Given the description of an element on the screen output the (x, y) to click on. 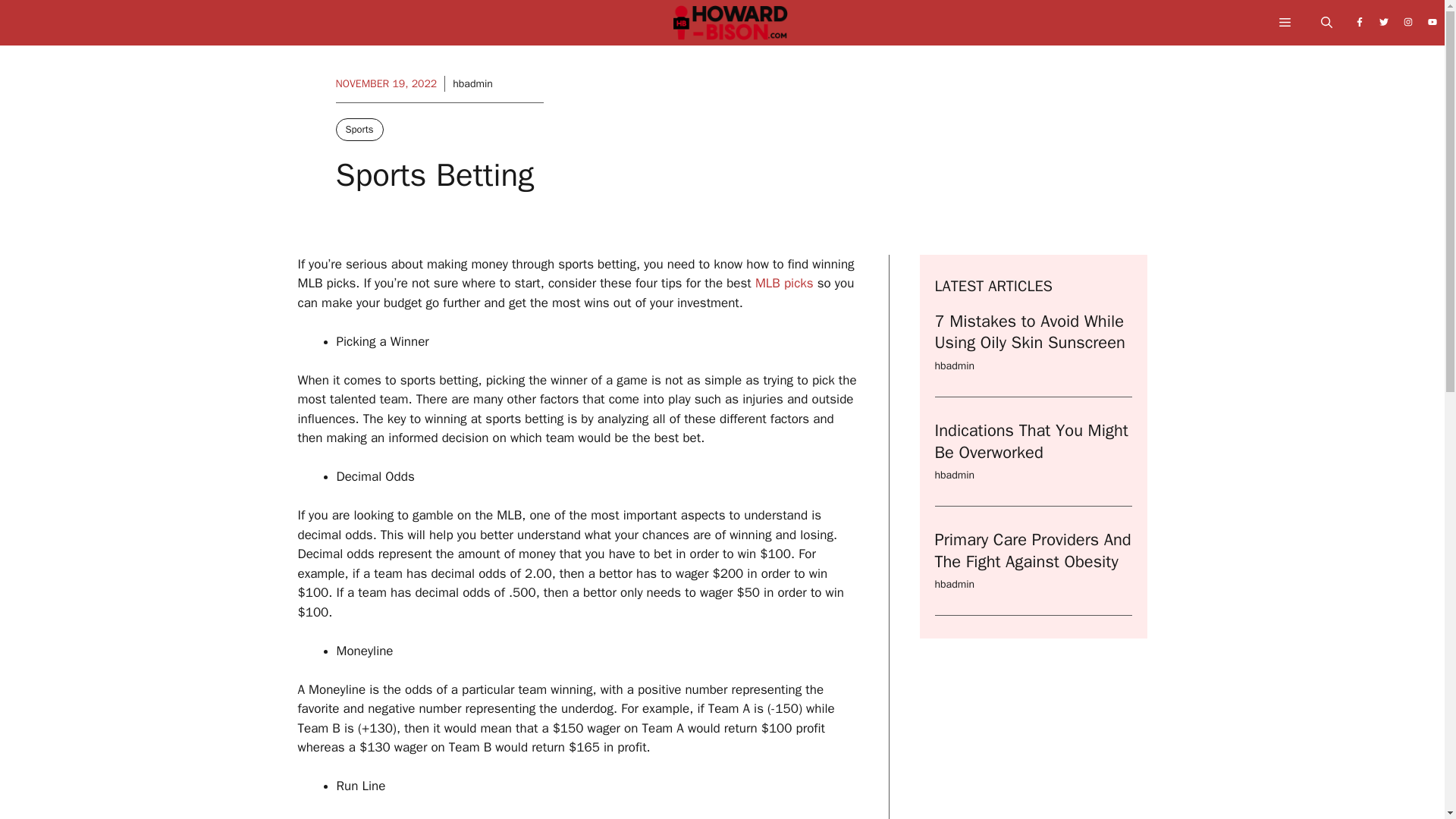
Sports (358, 128)
7 Mistakes to Avoid While Using Oily Skin Sunscreen (1029, 332)
hbadmin (954, 474)
Primary Care Providers And The Fight Against Obesity (1032, 550)
hbadmin (472, 83)
Indications That You Might Be Overworked (1030, 441)
Howard University Bison (729, 26)
hbadmin (954, 365)
MLB picks (784, 283)
hbadmin (954, 584)
